Given the description of an element on the screen output the (x, y) to click on. 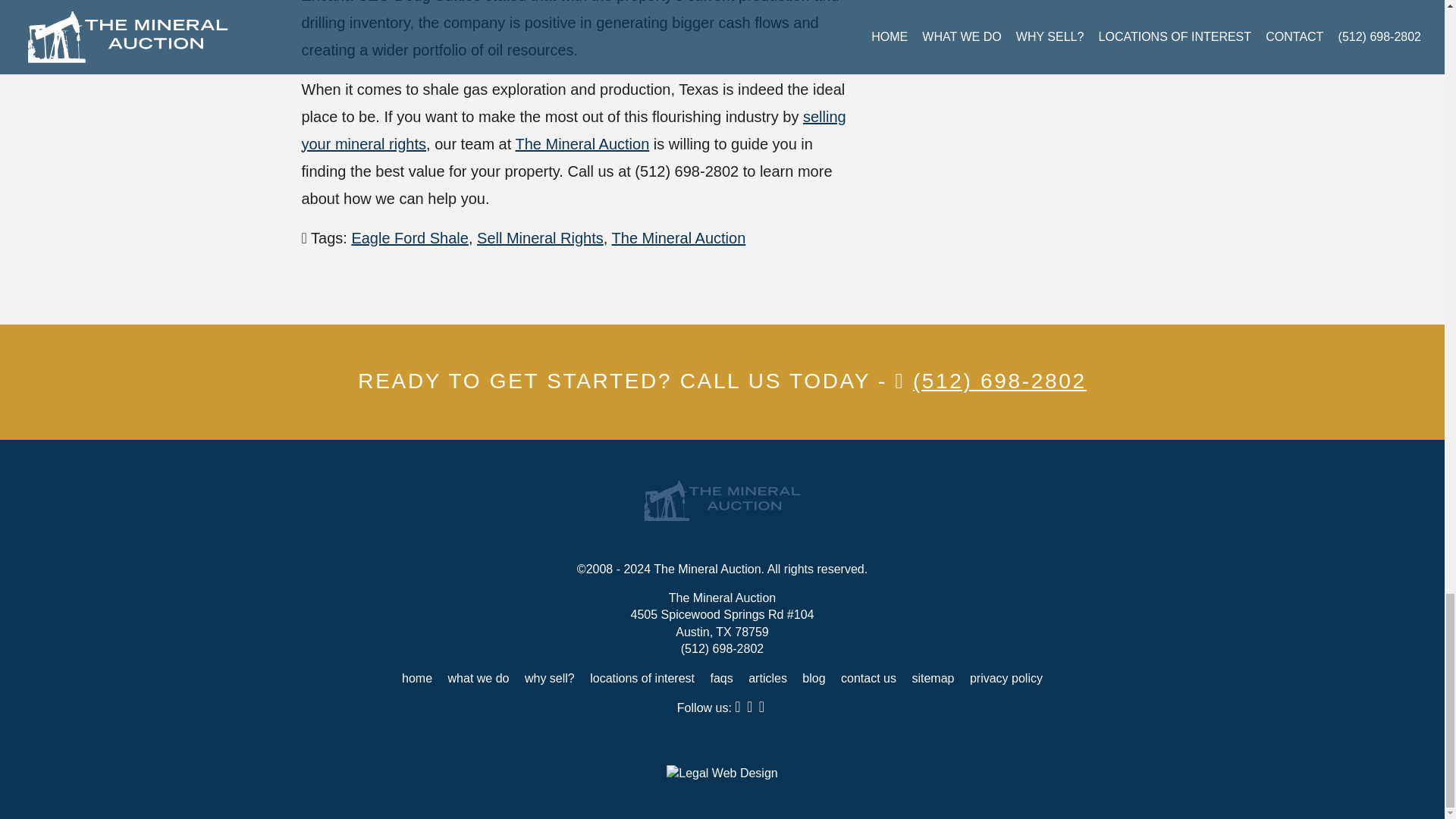
home (416, 677)
Eagle Ford Shale (409, 238)
what we do (478, 677)
Sell Mineral Rights (540, 238)
Legal Web Design (721, 773)
why sell? (549, 677)
selling your mineral rights (573, 130)
The Mineral Auction (582, 143)
The Mineral Auction (678, 238)
